Given the description of an element on the screen output the (x, y) to click on. 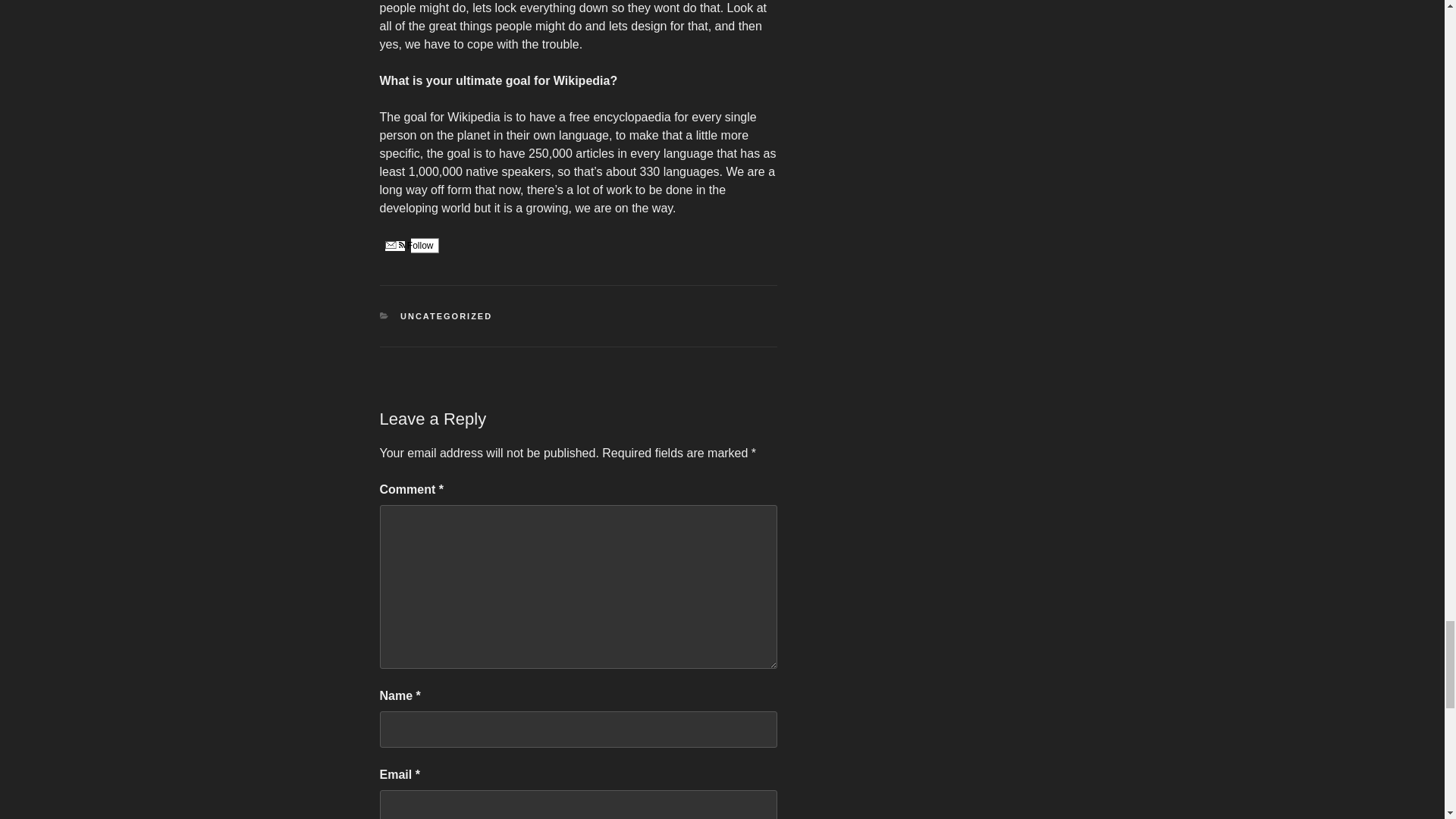
Follow (408, 245)
Email, RSS (394, 245)
UNCATEGORIZED (446, 316)
